Given the description of an element on the screen output the (x, y) to click on. 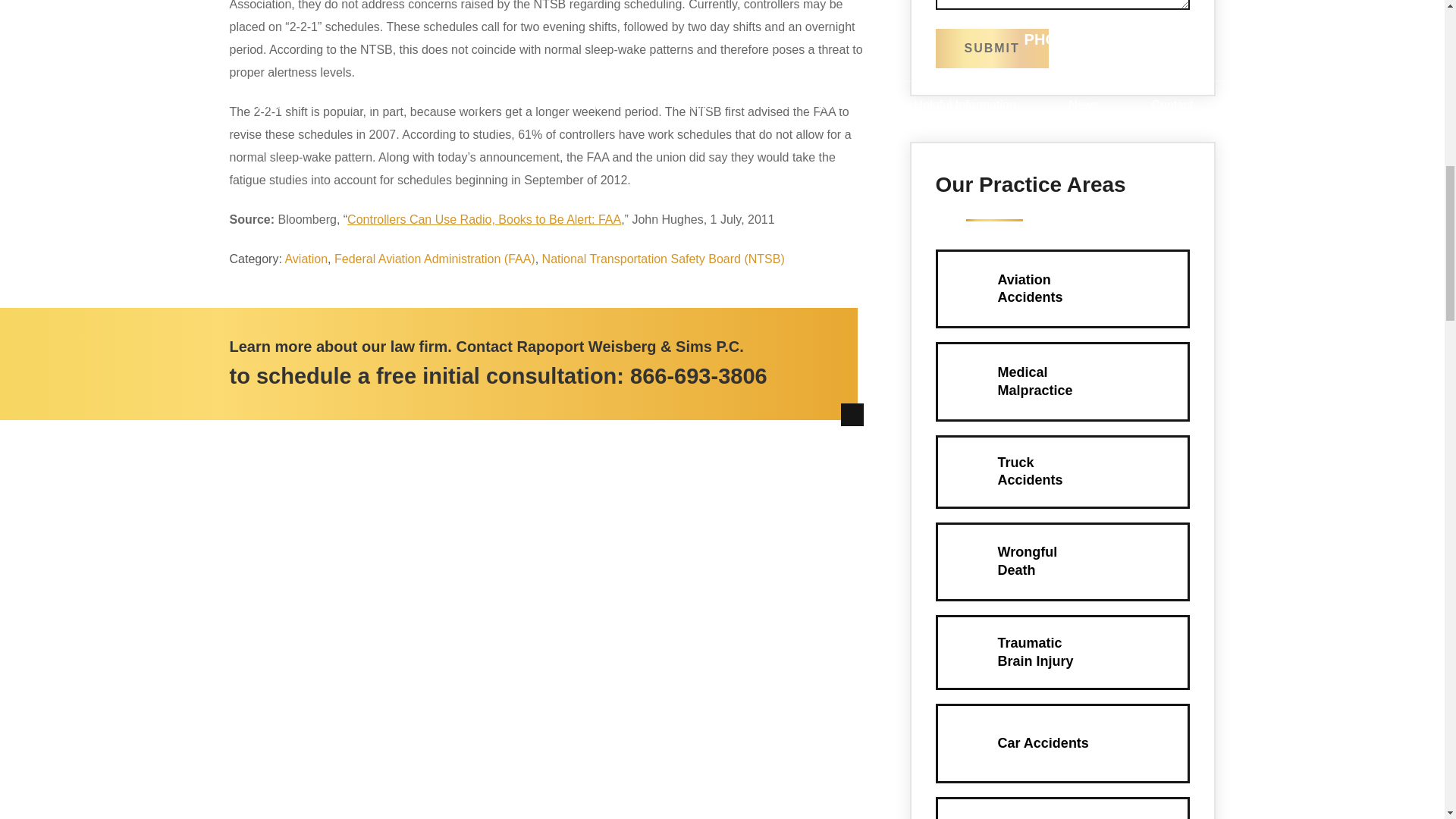
Submit (1061, 288)
Submit (992, 47)
866-693-3806 (1061, 561)
Controllers Can Use Radio, Books to Be Alert: FAA (992, 47)
Aviation (698, 375)
